Given the description of an element on the screen output the (x, y) to click on. 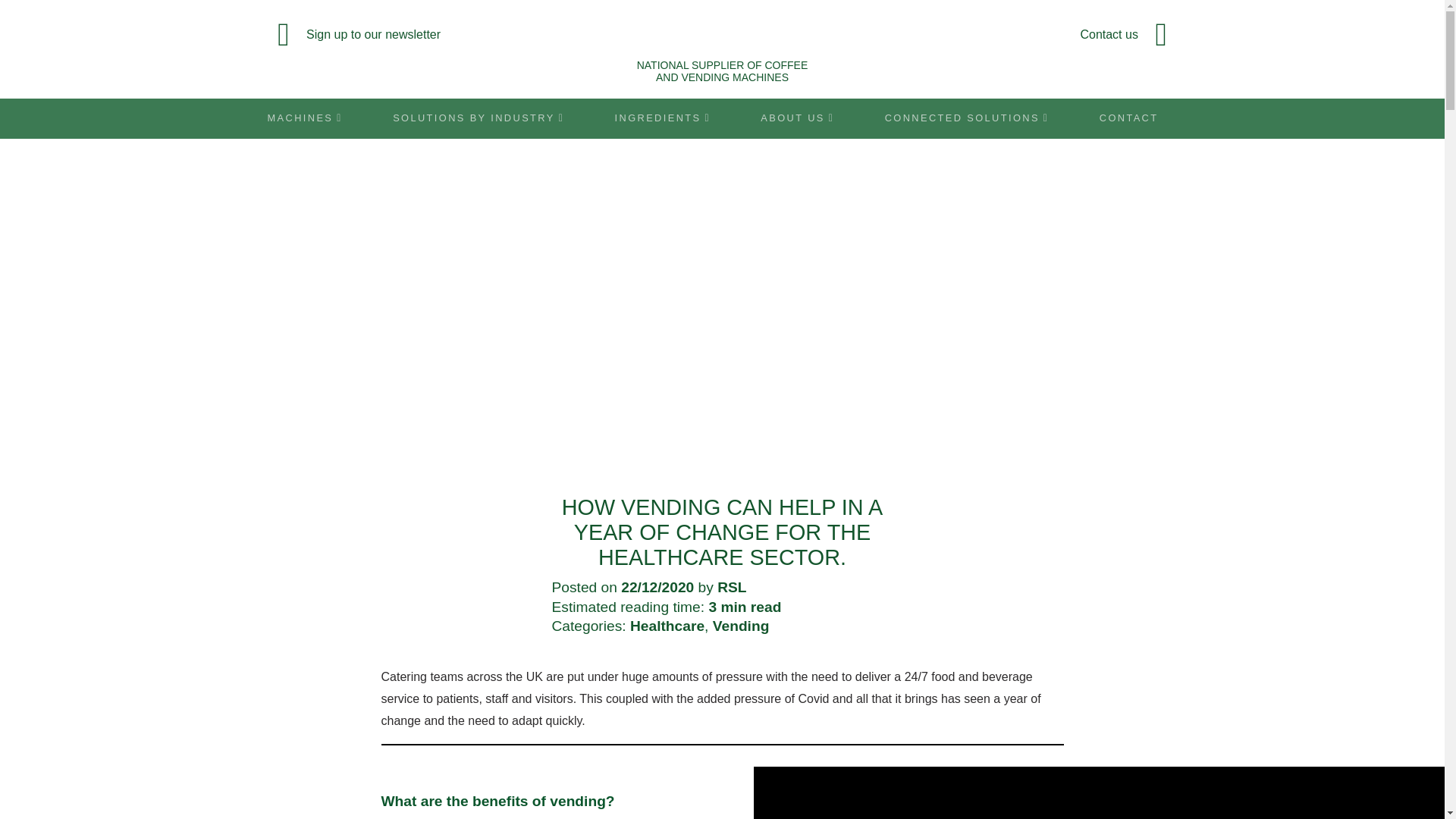
SOLUTIONS BY INDUSTRY (478, 118)
 Sign up to our newsletter (413, 34)
MACHINES (313, 118)
Contact us  (1030, 34)
INGREDIENTS (662, 118)
